Given the description of an element on the screen output the (x, y) to click on. 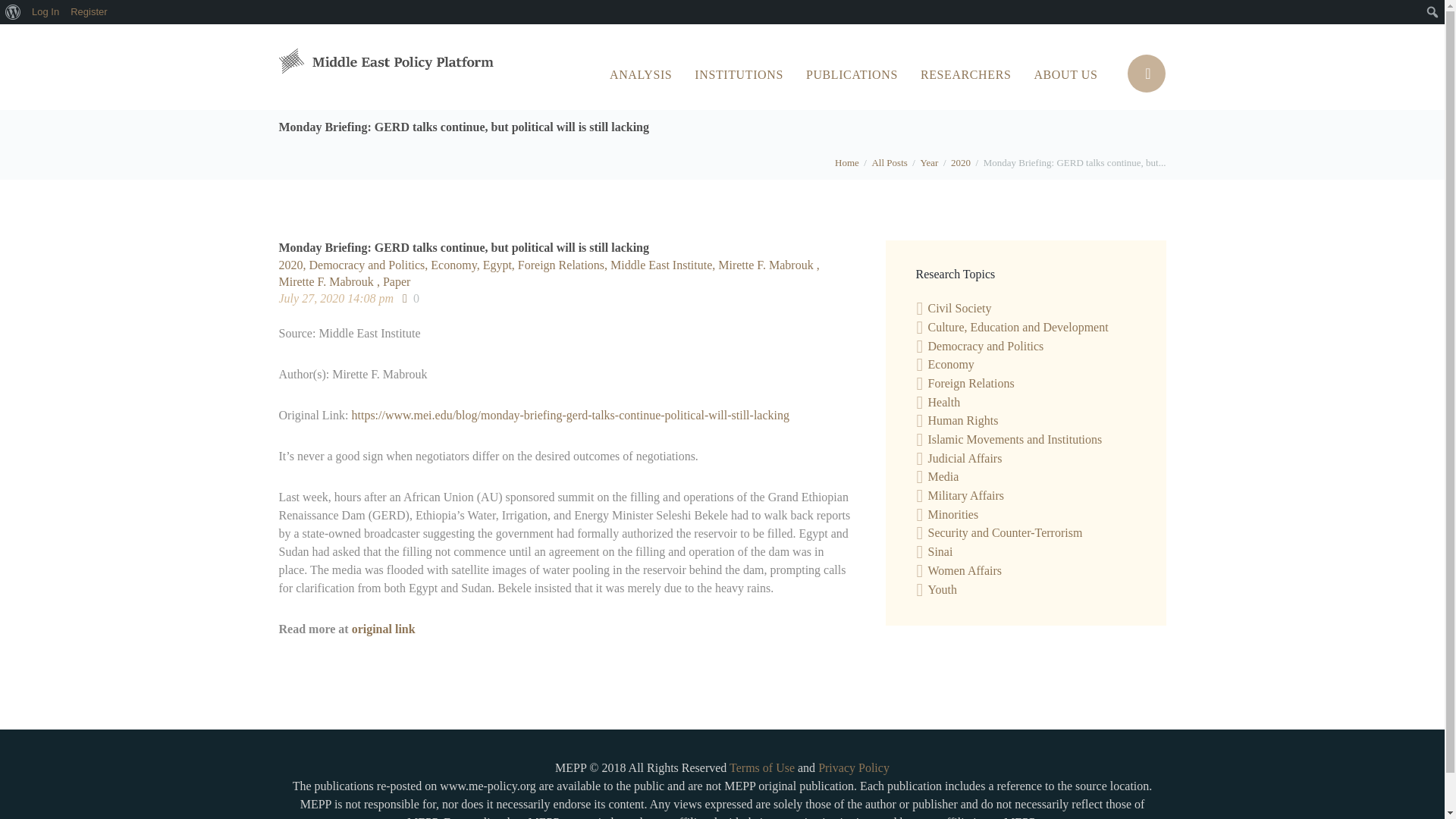
Democracy and Politics (369, 264)
Civil Society (959, 308)
0 (411, 298)
Democracy and Politics (985, 345)
Mirette F. Mabrouk  (330, 281)
Year (928, 161)
ABOUT US (1065, 74)
2020 (960, 161)
INSTITUTIONS (738, 74)
Mirette F. Mabrouk  (767, 264)
Economy (951, 364)
ANALYSIS (640, 74)
Islamic Movements and Institutions (1015, 439)
Culture, Education and Development (1018, 327)
Middle East Institute (663, 264)
